Given the description of an element on the screen output the (x, y) to click on. 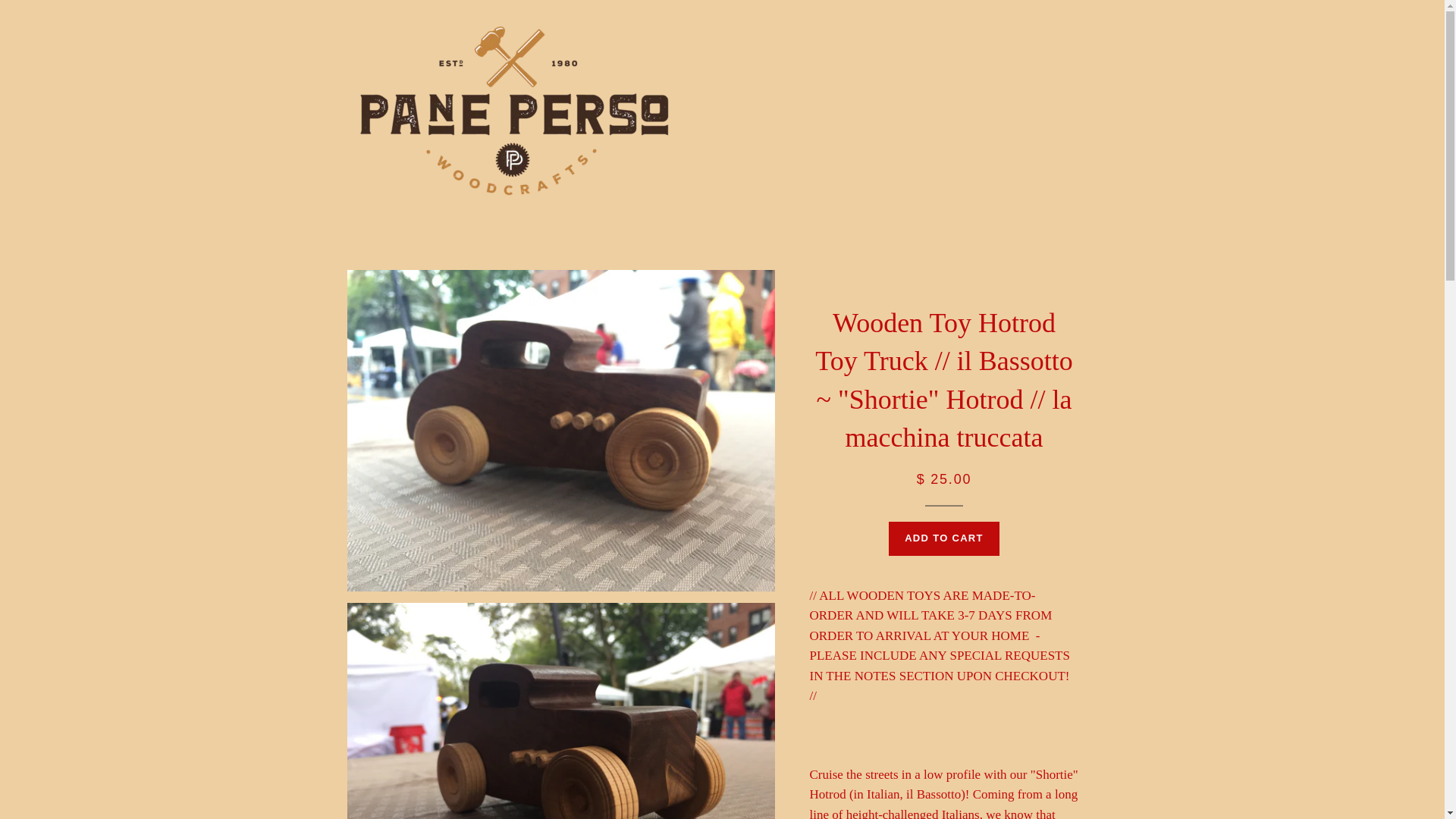
ADD TO CART (943, 538)
